Given the description of an element on the screen output the (x, y) to click on. 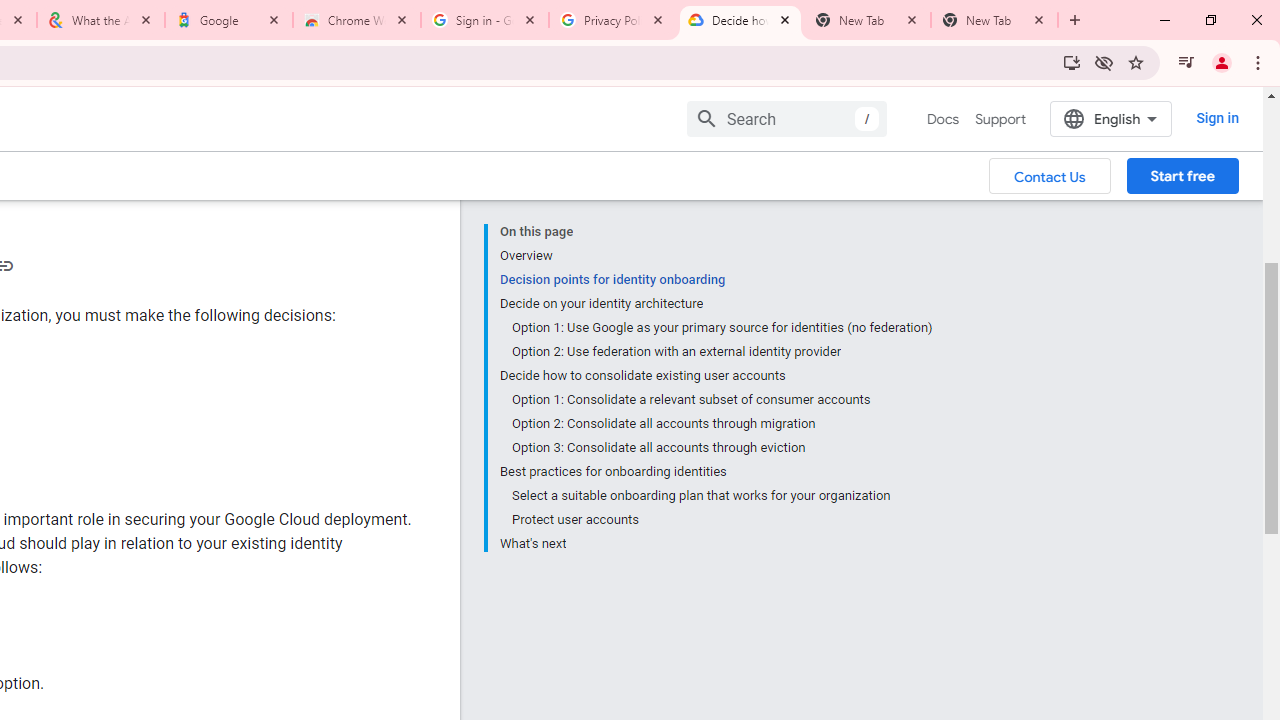
Option 1: Consolidate a relevant subset of consumer accounts (721, 399)
New Tab (994, 20)
Decide how to consolidate existing user accounts (716, 376)
Option 2: Consolidate all accounts through migration (721, 423)
What's next (716, 542)
Decide on your identity architecture (716, 304)
Option 2: Use federation with an external identity provider (721, 351)
Decision points for identity onboarding (716, 279)
